Given the description of an element on the screen output the (x, y) to click on. 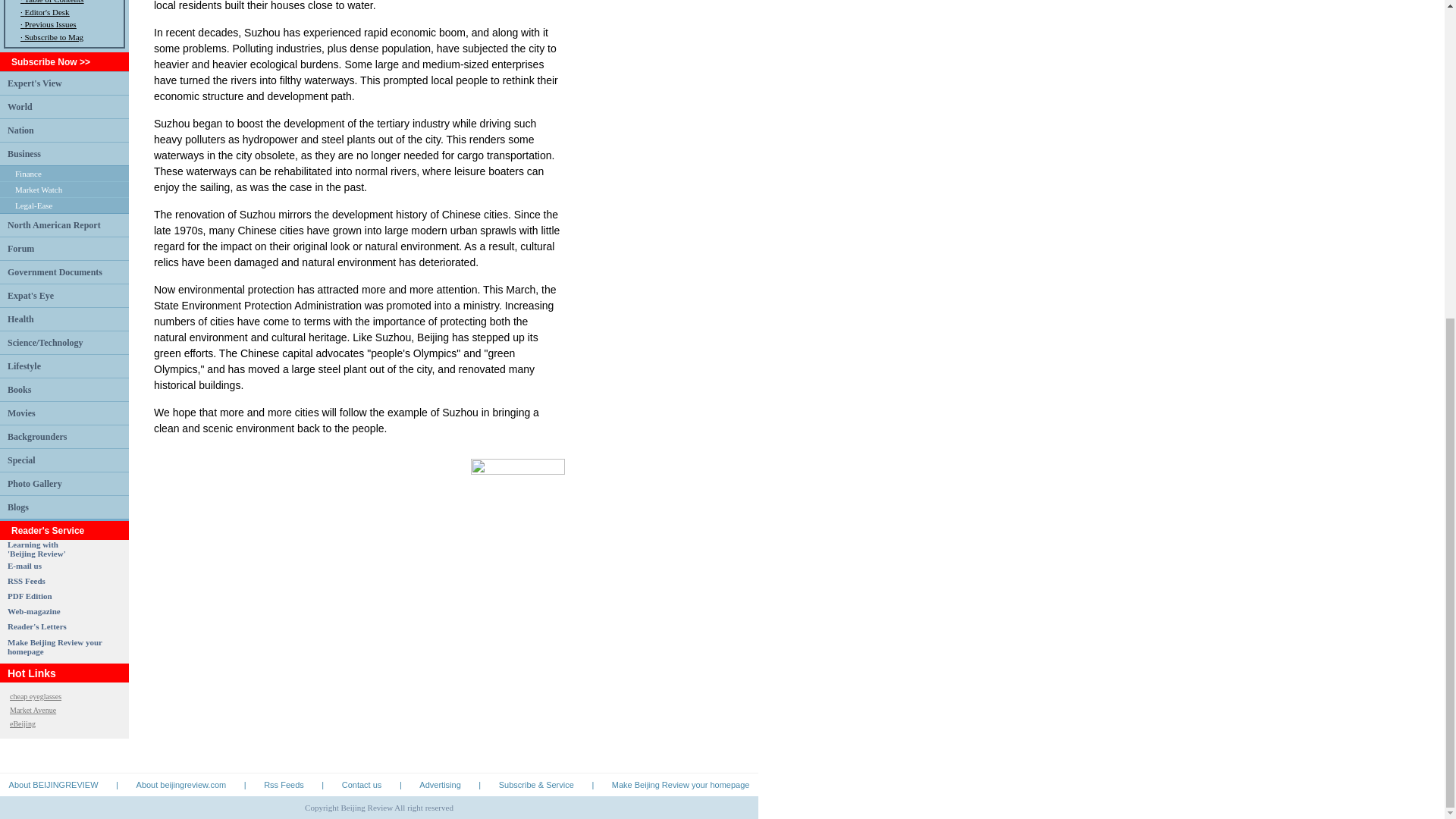
E-mail us (24, 565)
Expat's Eye (30, 294)
Editor's Desk (46, 11)
Blogs (18, 507)
North American Report (53, 225)
Health (20, 318)
Forum (20, 247)
Special (20, 460)
Backgrounders (36, 435)
PDF Edition (29, 595)
